Given the description of an element on the screen output the (x, y) to click on. 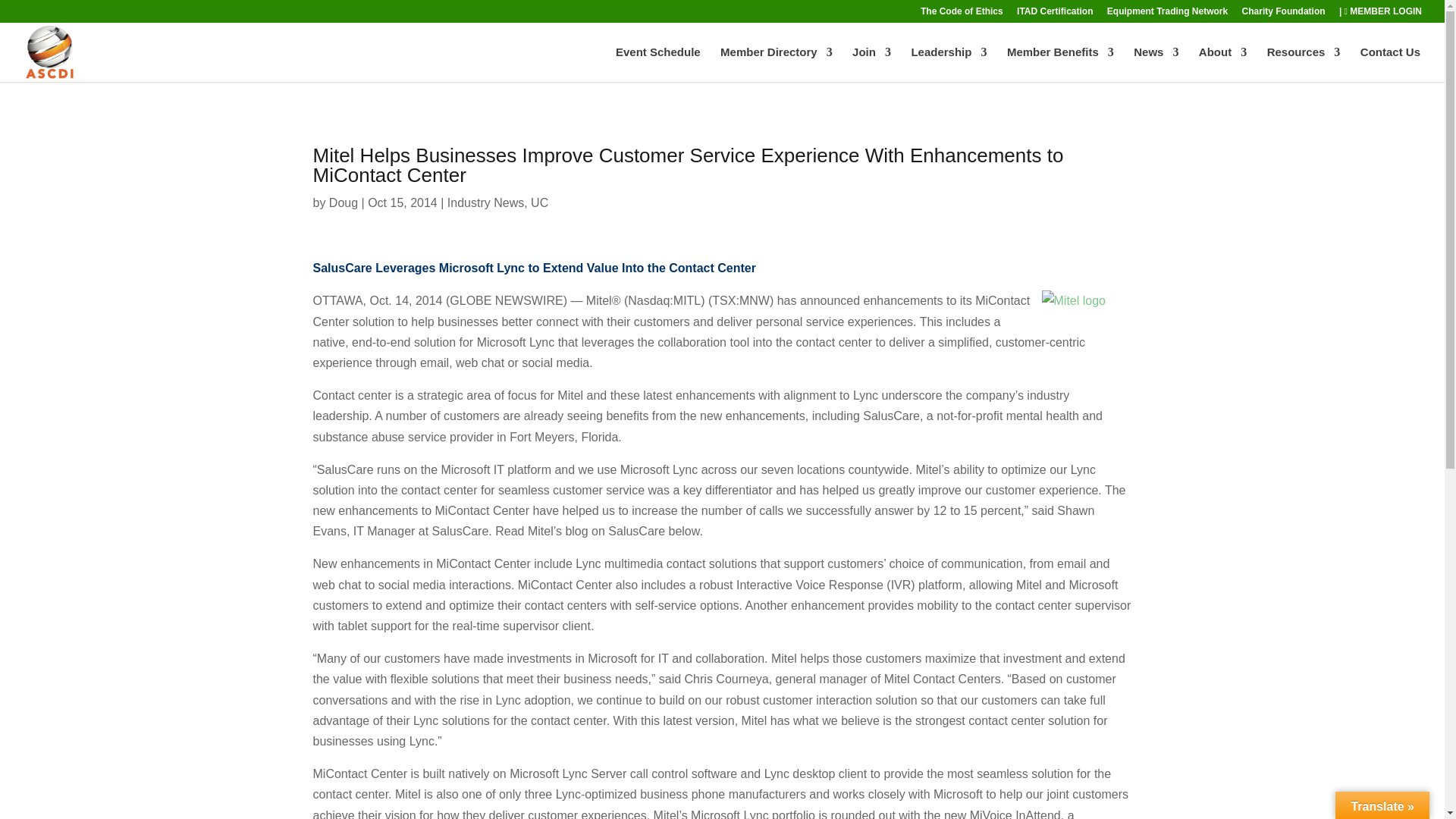
Member Benefits (1060, 63)
Posts by Doug (343, 202)
Equipment Trading Network (1166, 14)
ITAD Certification (1054, 14)
Join (871, 63)
The Code of Ethics (961, 14)
Leadership (949, 63)
Event Schedule (657, 63)
Member Directory (776, 63)
Charity Foundation (1282, 14)
